Given the description of an element on the screen output the (x, y) to click on. 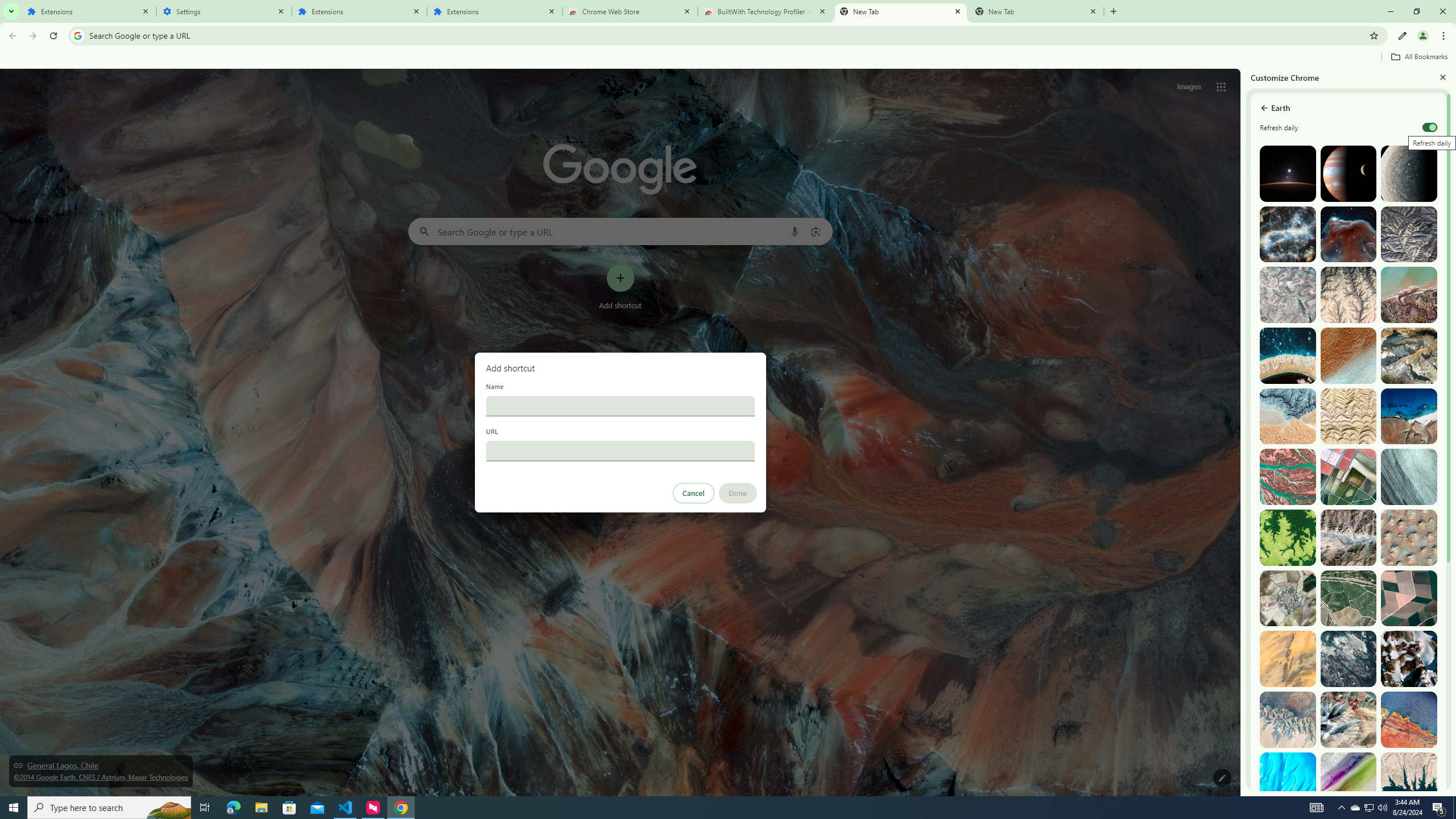
Search icon (77, 35)
Settings (224, 11)
Kerman, Iran (1348, 416)
Dekese, DR Congo (1287, 537)
Atar, Mauritania (1287, 658)
Isla Cristina, Spain (1348, 598)
Al Jabal al Akhdar, Libya (1408, 416)
Nanggroe Aceh Darussalam, Indonesia (1408, 294)
Ouargla, Algeria (1408, 537)
Ngari, China (1348, 719)
Cancel (693, 493)
Extensions (359, 11)
